Given the description of an element on the screen output the (x, y) to click on. 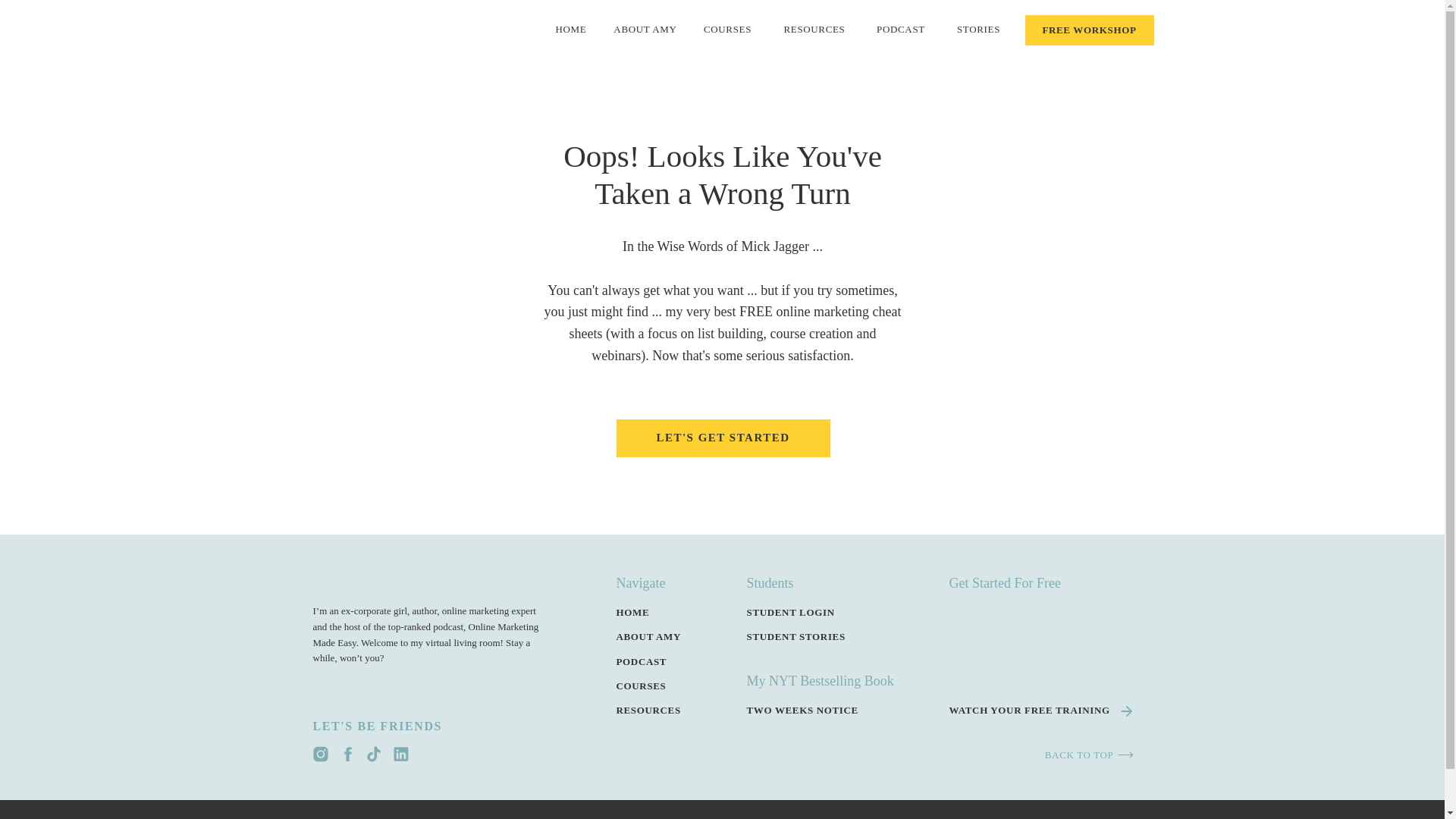
STUDENT STORIES (820, 635)
PODCAST (900, 30)
COURSES (727, 30)
BACK TO TOP (1041, 754)
PODCAST (660, 661)
LET'S GET STARTED (722, 438)
WATCH YOUR FREE TRAINING (1040, 710)
TWO WEEKS NOTICE (820, 709)
RESOURCES (659, 709)
HOME (664, 612)
